Given the description of an element on the screen output the (x, y) to click on. 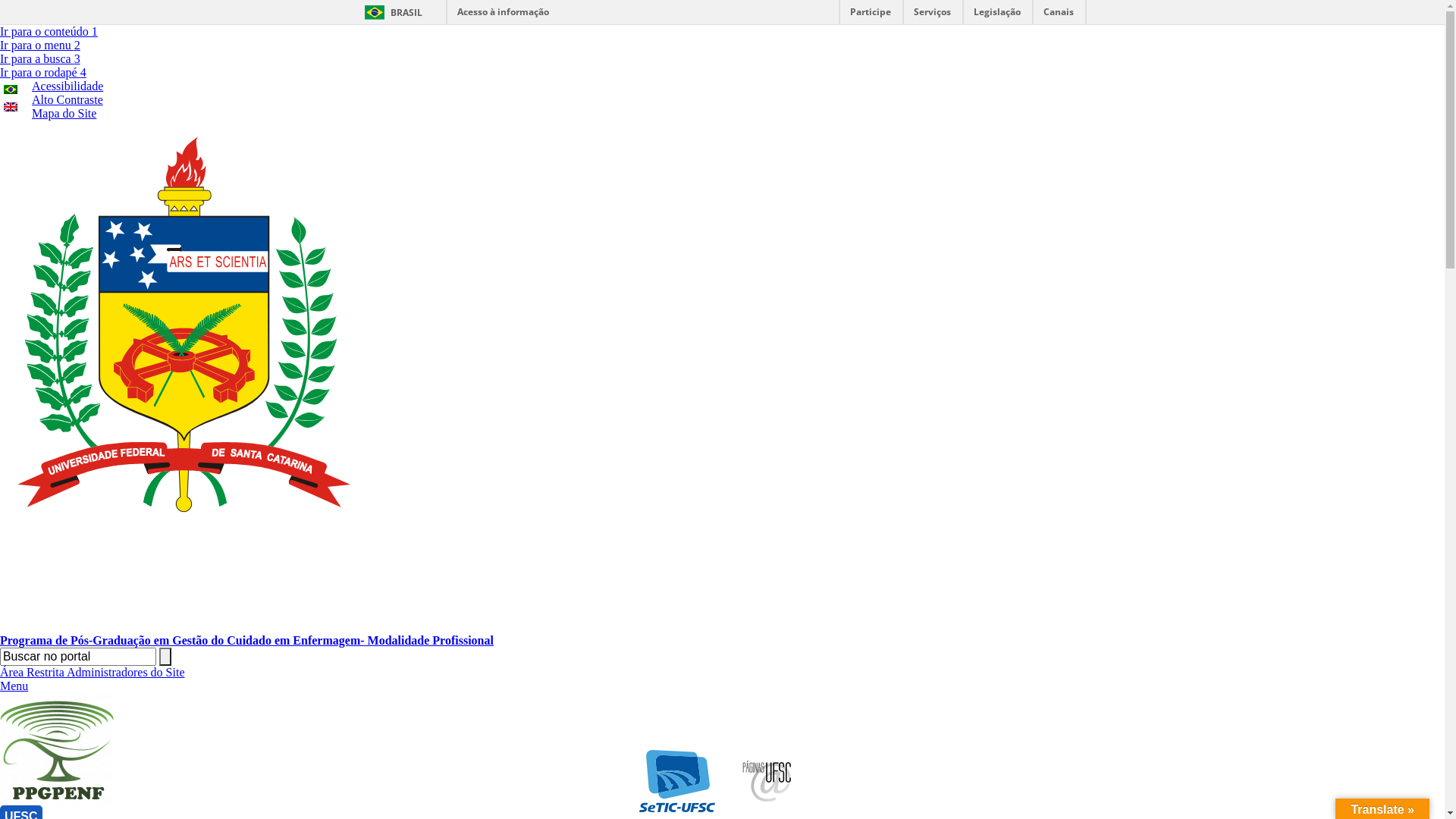
Administradores do Site Element type: text (125, 671)
Ir para o menu 2 Element type: text (40, 44)
Acessibilidade Element type: text (67, 85)
Canais Element type: text (1058, 14)
Mapa do Site Element type: text (63, 112)
English (en) Element type: hover (10, 106)
Alto Contraste Element type: text (67, 99)
Ir para a busca 3 Element type: text (40, 58)
BRASIL Element type: text (389, 12)
Menu Element type: text (14, 685)
Participe Element type: text (871, 14)
